Given the description of an element on the screen output the (x, y) to click on. 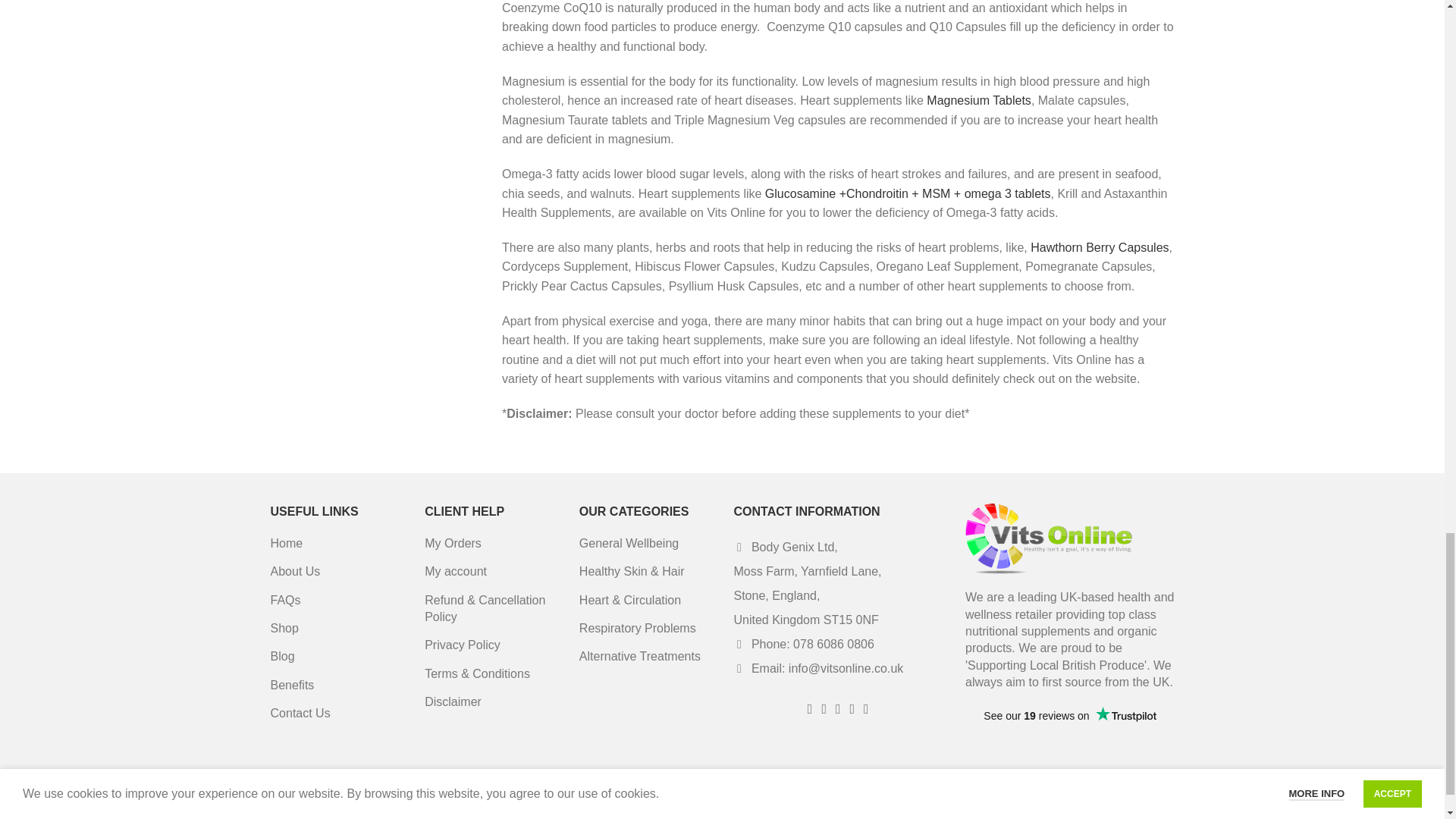
Customer reviews powered by Trustpilot (1069, 725)
